Given the description of an element on the screen output the (x, y) to click on. 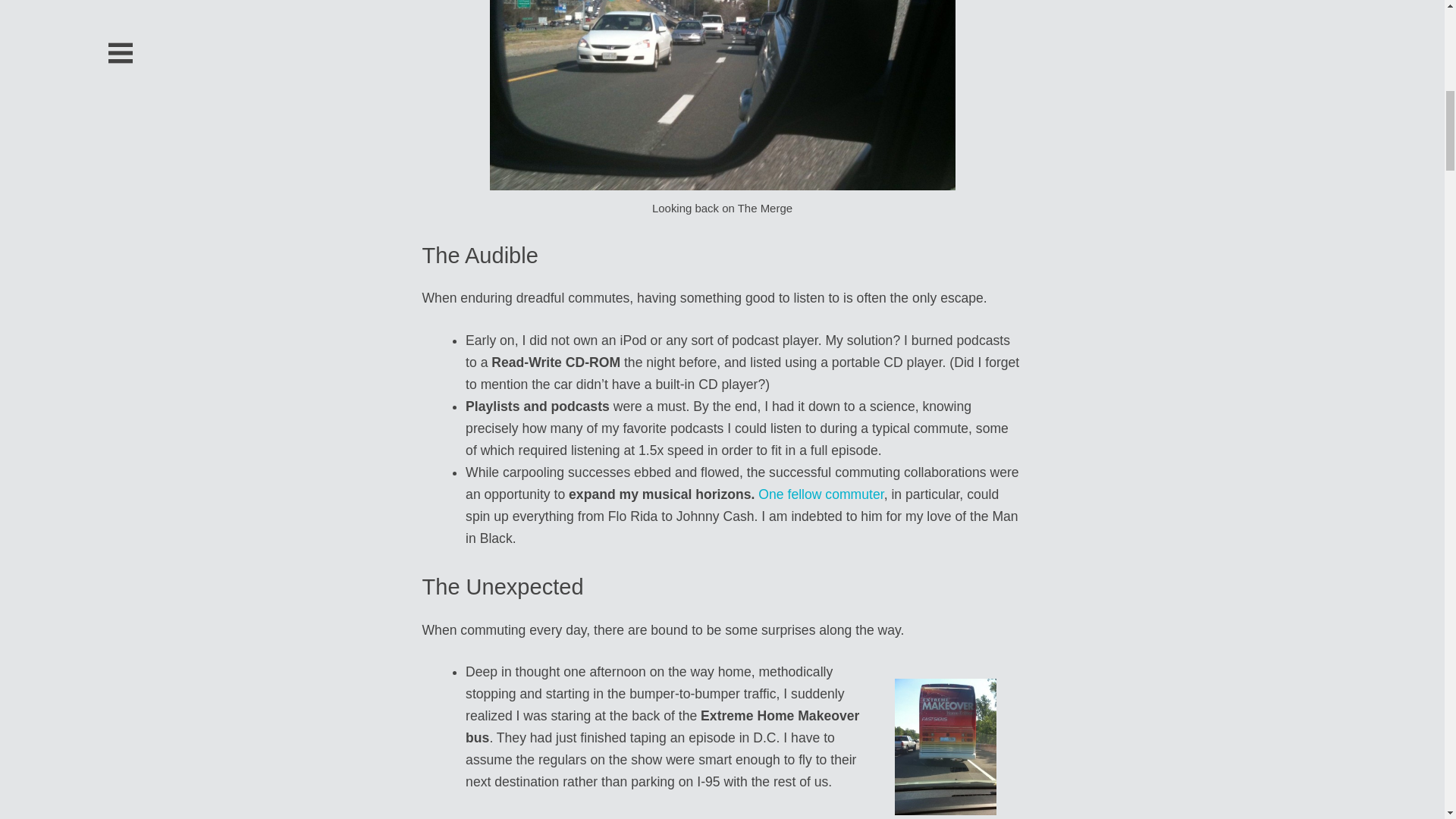
Looking back on The Merge (722, 95)
Jay Benfield (820, 494)
